Given the description of an element on the screen output the (x, y) to click on. 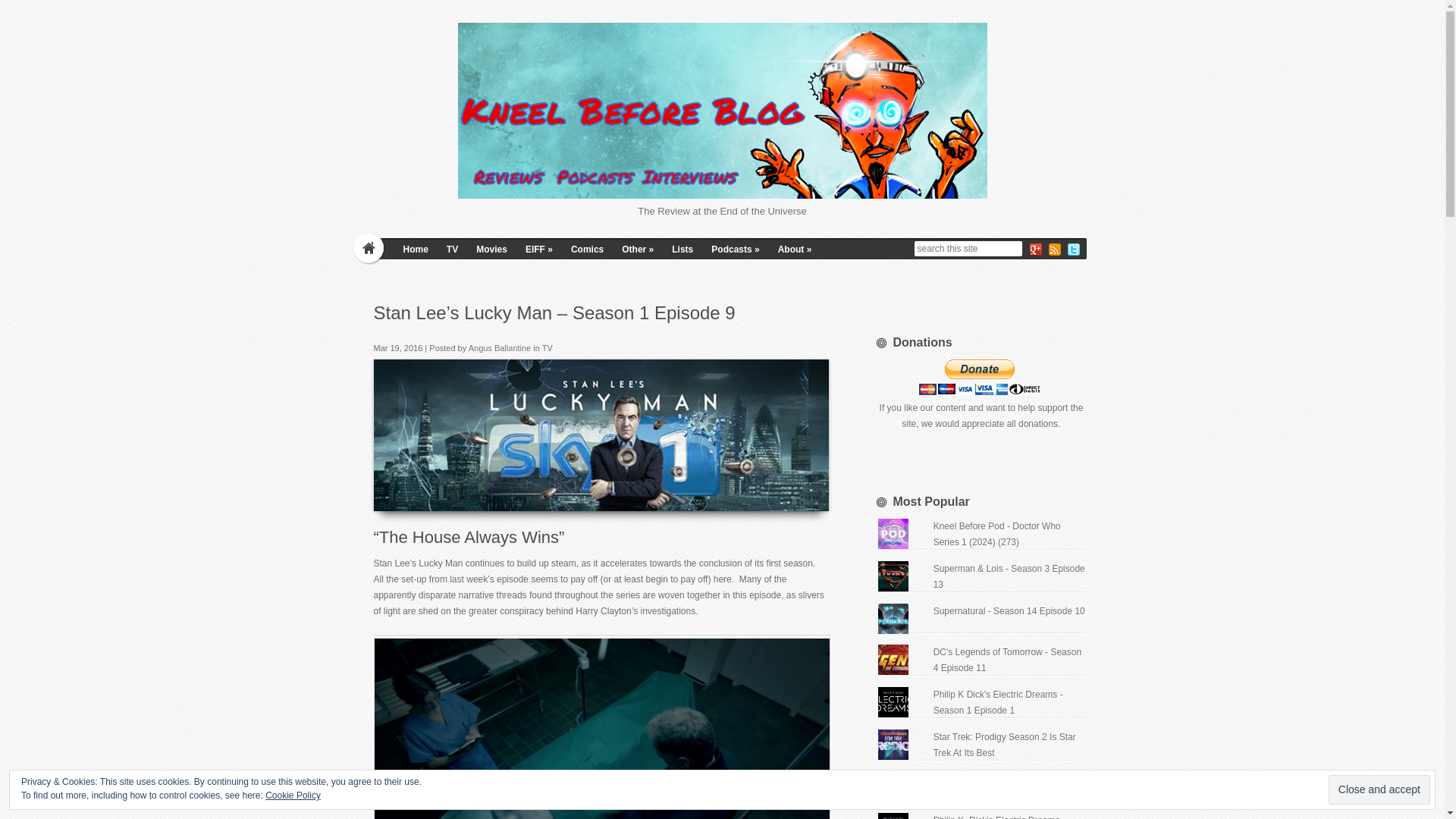
Kneel Before Blog (722, 110)
Close and accept (1378, 789)
Home (415, 249)
Comics (587, 249)
Lists (682, 249)
Posts by Angus Ballantine (499, 347)
Movies (491, 249)
